Given the description of an element on the screen output the (x, y) to click on. 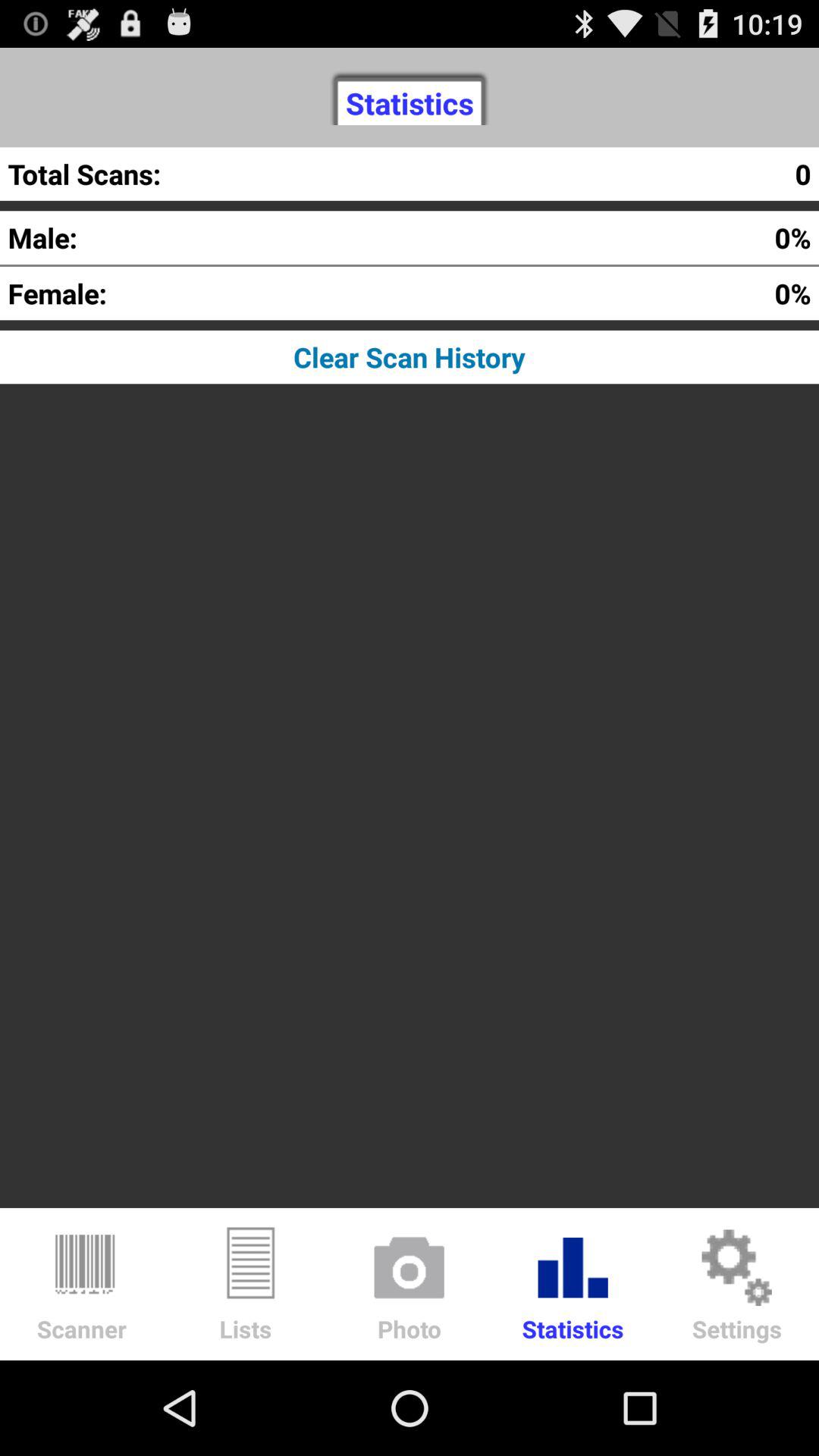
press clear scan history (409, 356)
